Given the description of an element on the screen output the (x, y) to click on. 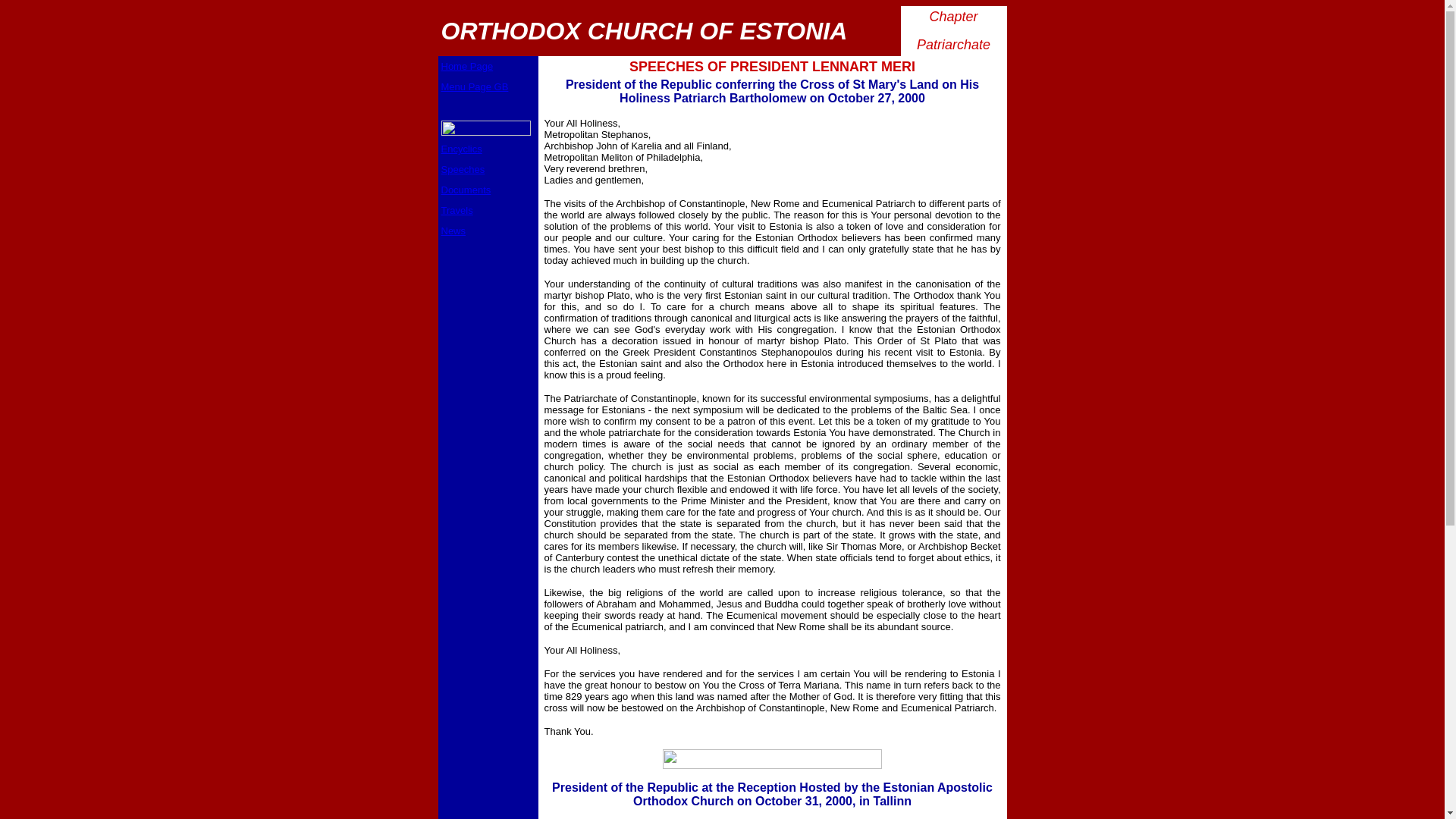
Encyclics (461, 148)
Speeches (462, 169)
Menu Page GB (474, 86)
Home Page (467, 66)
Travels (457, 210)
News (453, 230)
Documents (466, 189)
